Given the description of an element on the screen output the (x, y) to click on. 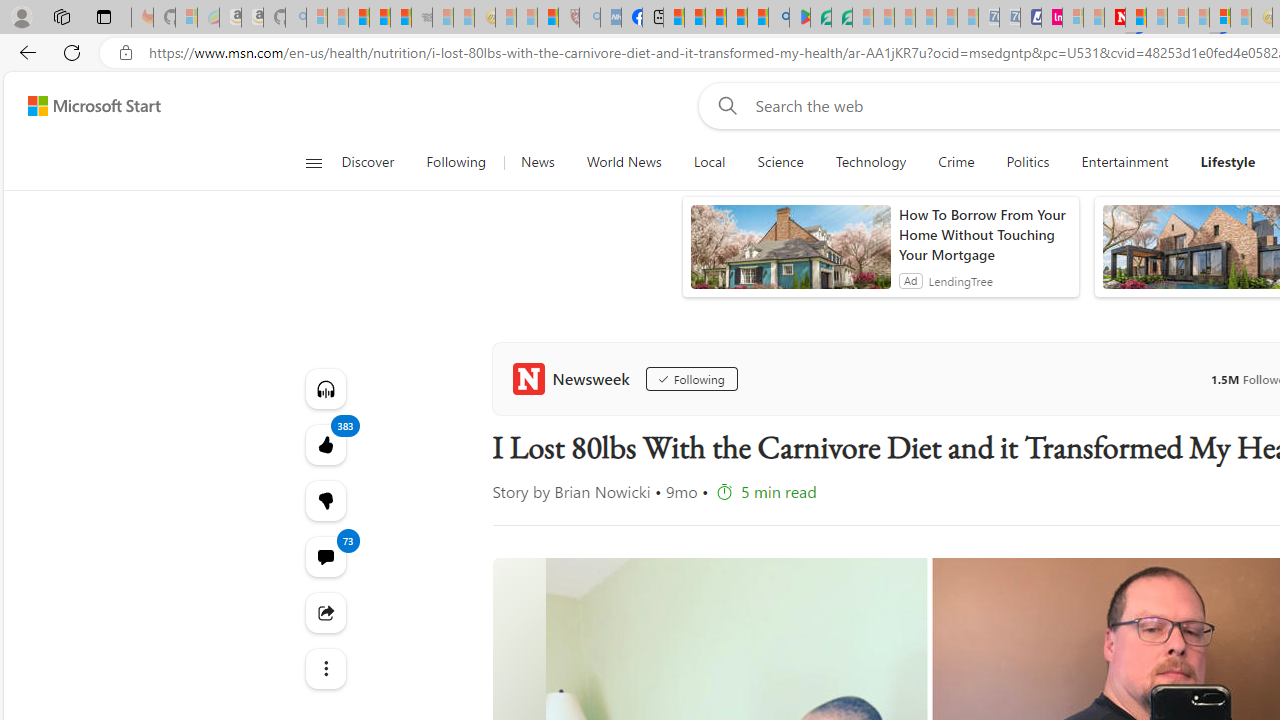
Latest Politics News & Archive | Newsweek.com (1114, 17)
Politics (1027, 162)
Microsoft account | Privacy - Sleeping (1072, 17)
Local (709, 162)
Local (708, 162)
Entertainment (1124, 162)
Recipes - MSN - Sleeping (505, 17)
See more (324, 668)
14 Common Myths Debunked By Scientific Facts - Sleeping (1156, 17)
anim-content (789, 255)
Listen to this article (324, 388)
